Given the description of an element on the screen output the (x, y) to click on. 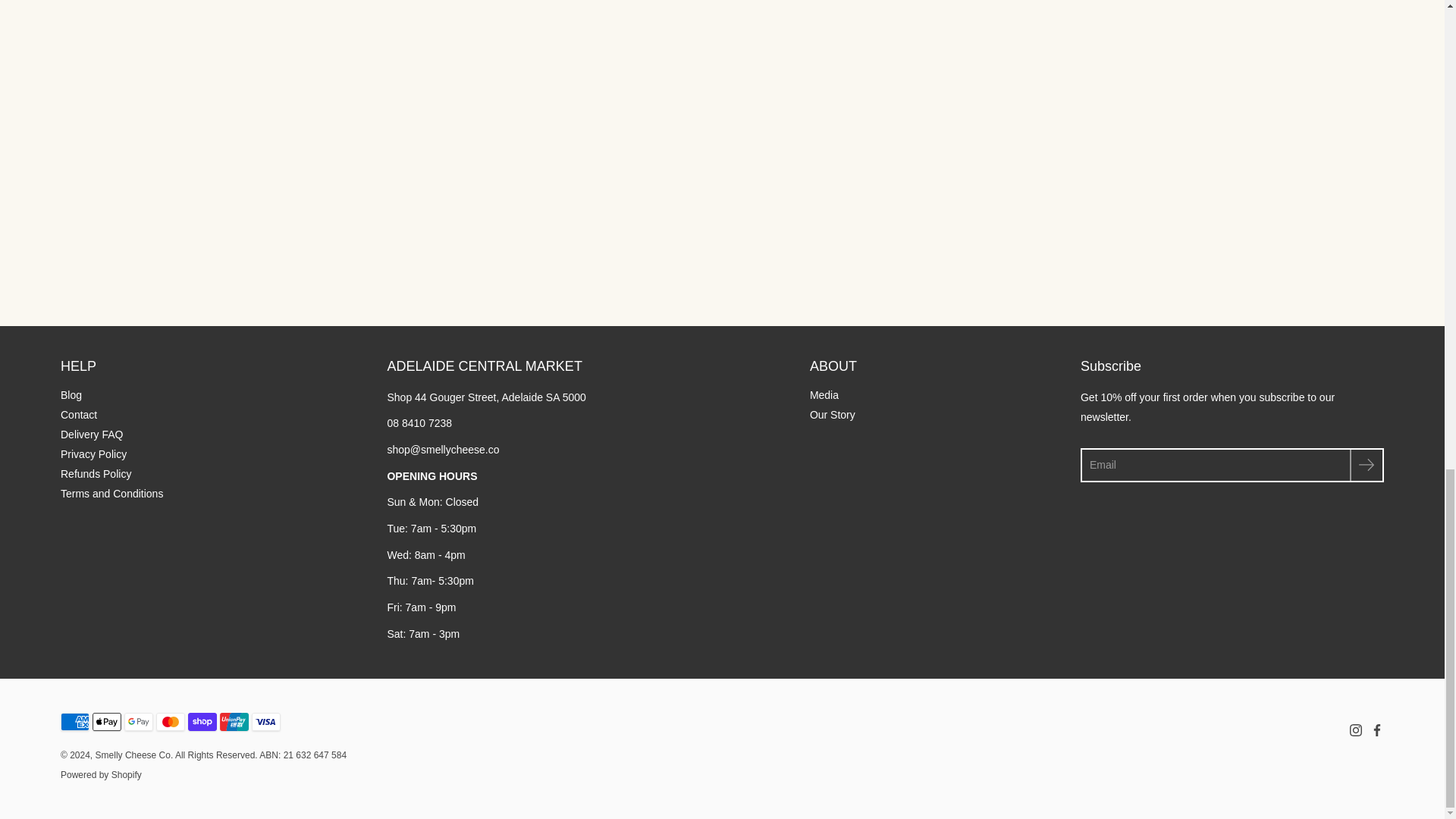
Apple Pay (106, 721)
Mastercard (169, 721)
American Express (74, 721)
Google Pay (137, 721)
